Given the description of an element on the screen output the (x, y) to click on. 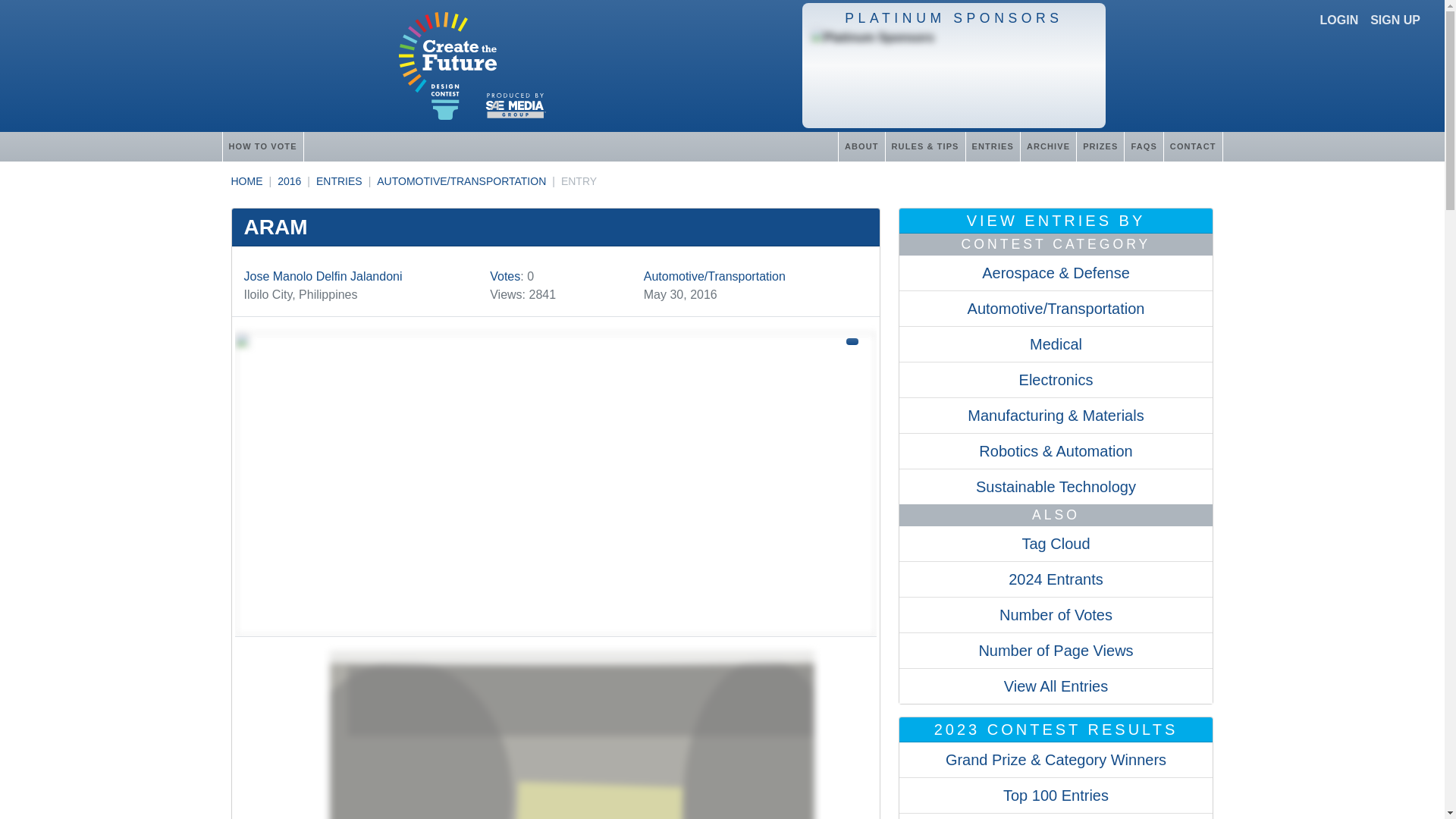
FAQS (1142, 146)
Votes (504, 276)
LOGIN (1339, 20)
HOME (246, 181)
Goto slide (555, 730)
ENTRIES (992, 146)
ENTRIES (338, 181)
HOW TO VOTE (261, 146)
SIGN UP (1395, 20)
CONTACT (1193, 146)
